Given the description of an element on the screen output the (x, y) to click on. 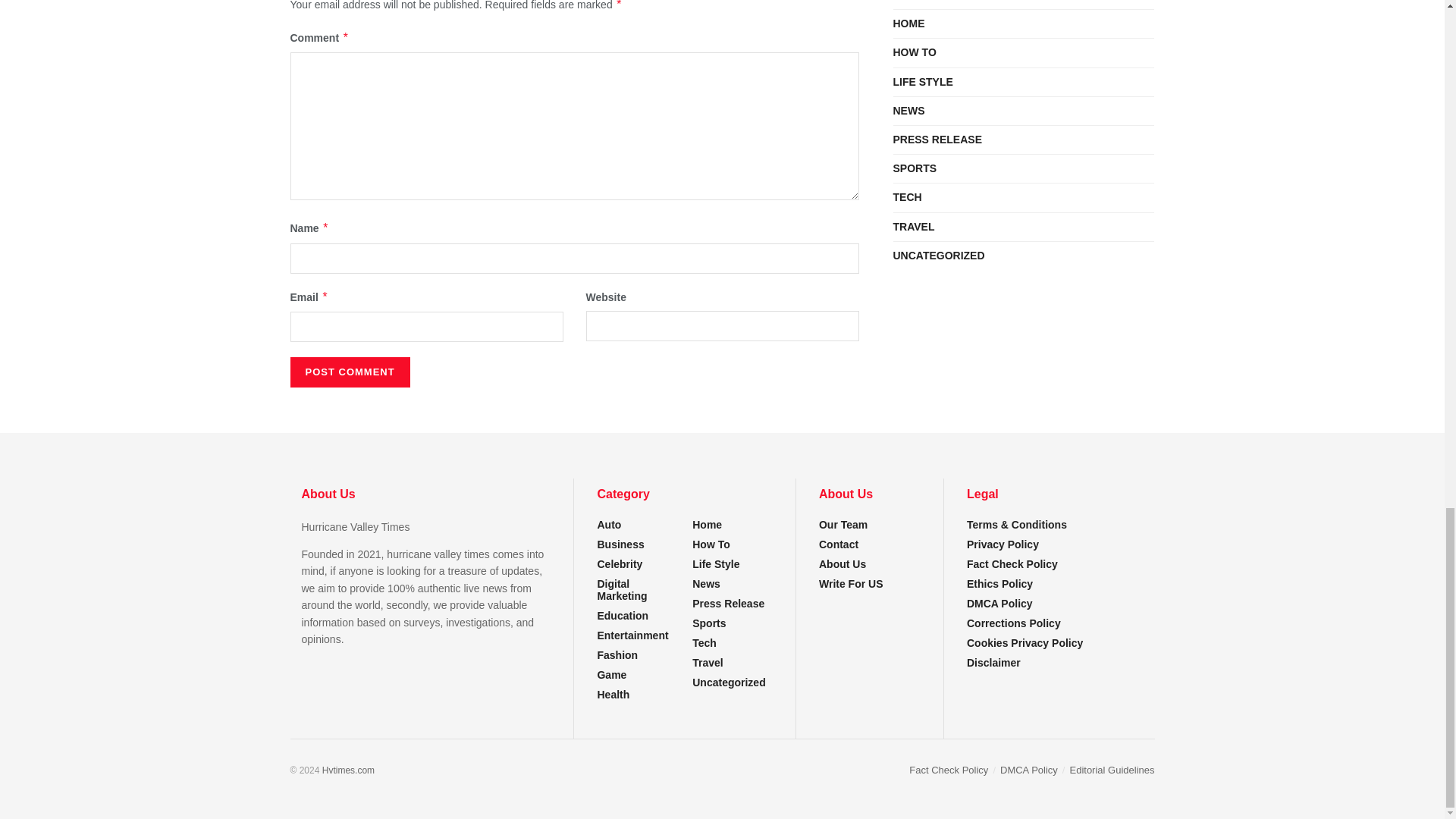
Post Comment (349, 372)
Hv Times (347, 769)
